Given the description of an element on the screen output the (x, y) to click on. 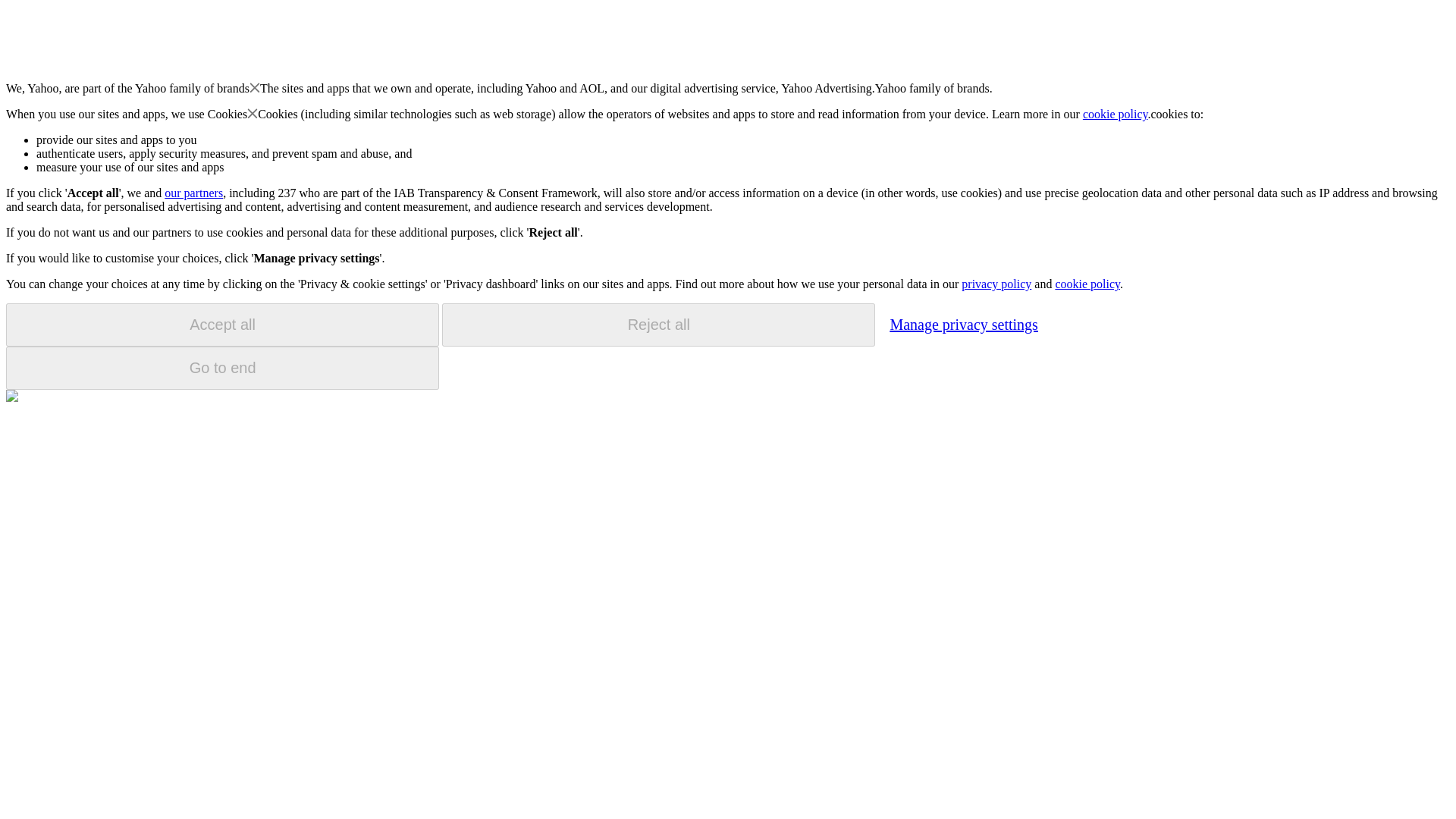
Manage privacy settings (963, 323)
cookie policy (1115, 113)
privacy policy (995, 283)
cookie policy (1086, 283)
Go to end (222, 367)
our partners (193, 192)
Accept all (222, 324)
Reject all (658, 324)
